Given the description of an element on the screen output the (x, y) to click on. 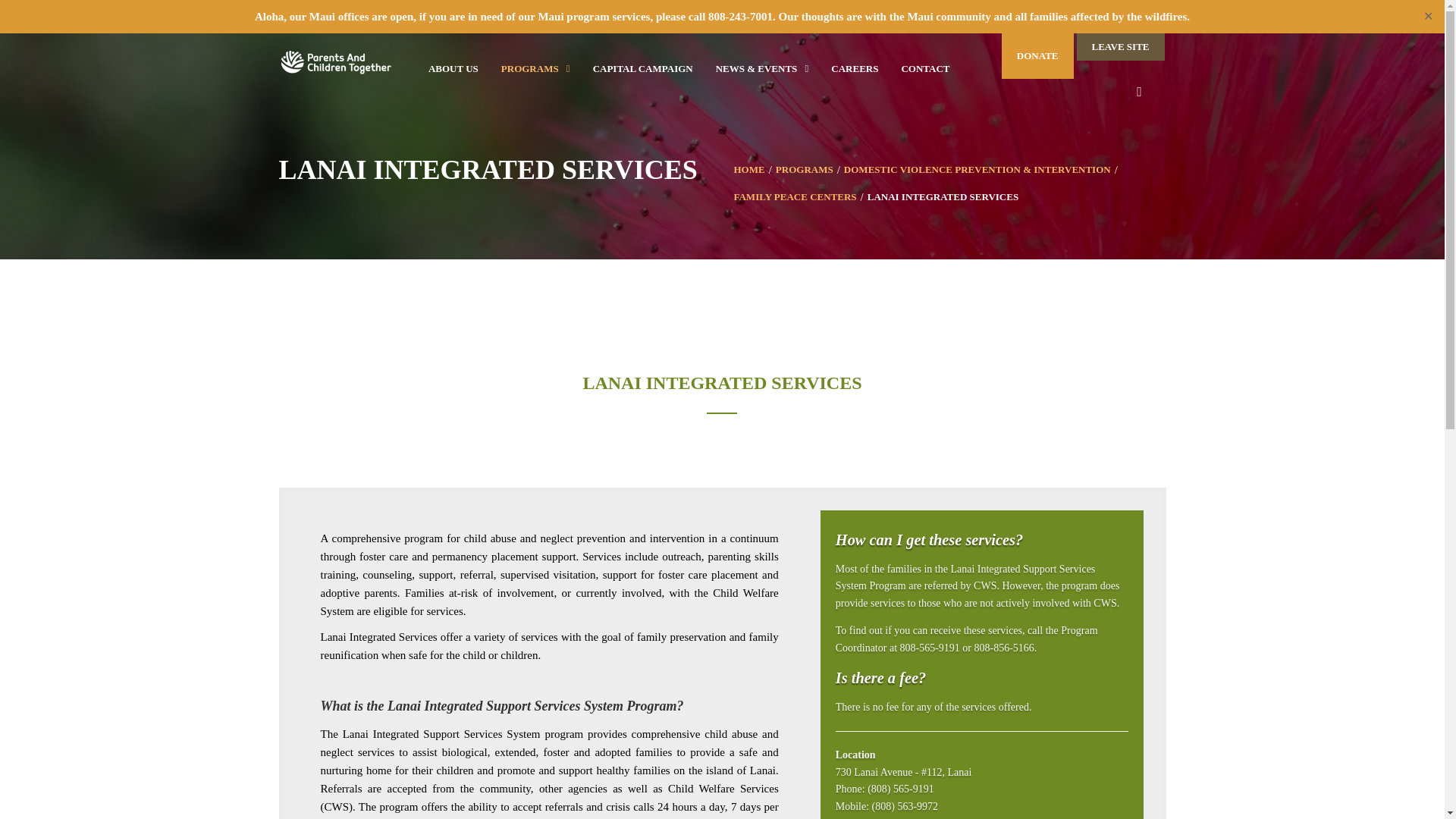
LANAI INTEGRATED SERVICES (942, 196)
ABOUT US (452, 68)
PROGRAMS (524, 68)
FAMILY PEACE CENTERS (795, 196)
PROGRAMS (804, 169)
Home (749, 169)
